Given the description of an element on the screen output the (x, y) to click on. 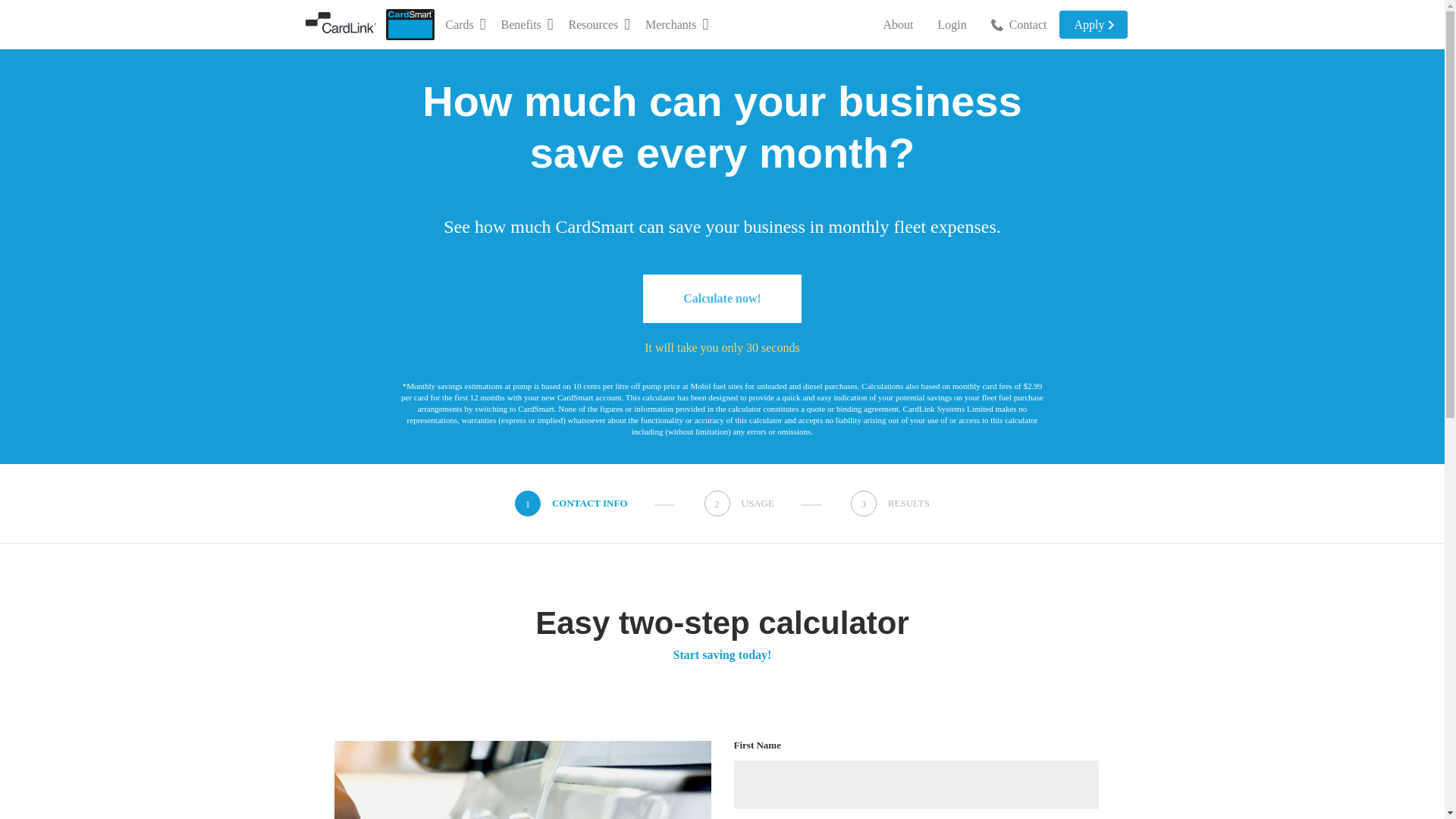
Apply (1092, 24)
Contact (1018, 24)
Benefits (526, 24)
Resources (599, 24)
Merchants (676, 24)
Calculate now! (722, 298)
